Given the description of an element on the screen output the (x, y) to click on. 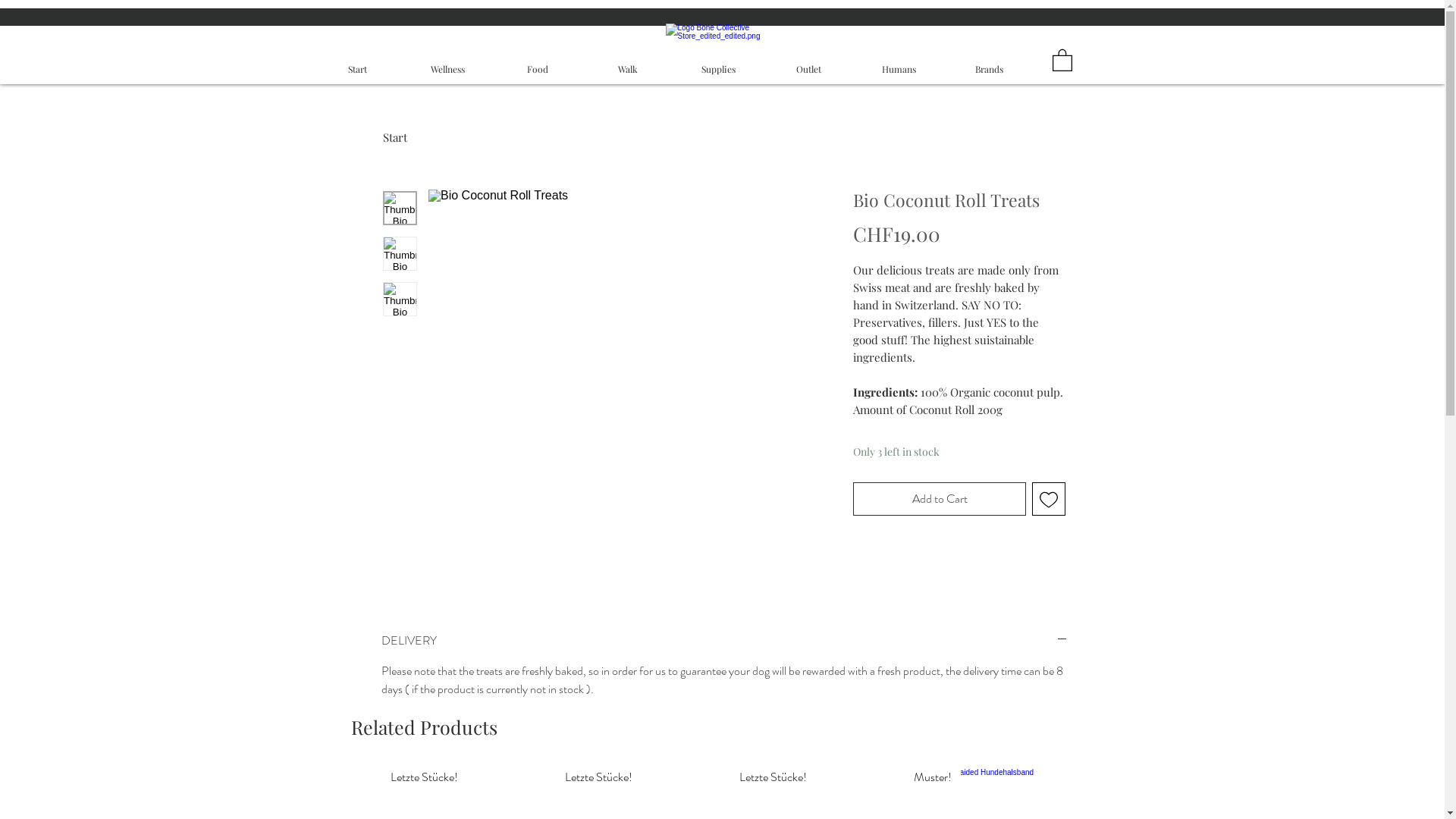
DELIVERY Element type: text (723, 640)
Start Element type: text (357, 68)
0 Element type: text (1062, 59)
Wellness Element type: text (446, 68)
Supplies Element type: text (718, 68)
Outlet Element type: text (807, 68)
Humans Element type: text (898, 68)
Start Element type: text (394, 136)
Add to Cart Element type: text (939, 498)
Walk Element type: text (627, 68)
